Given the description of an element on the screen output the (x, y) to click on. 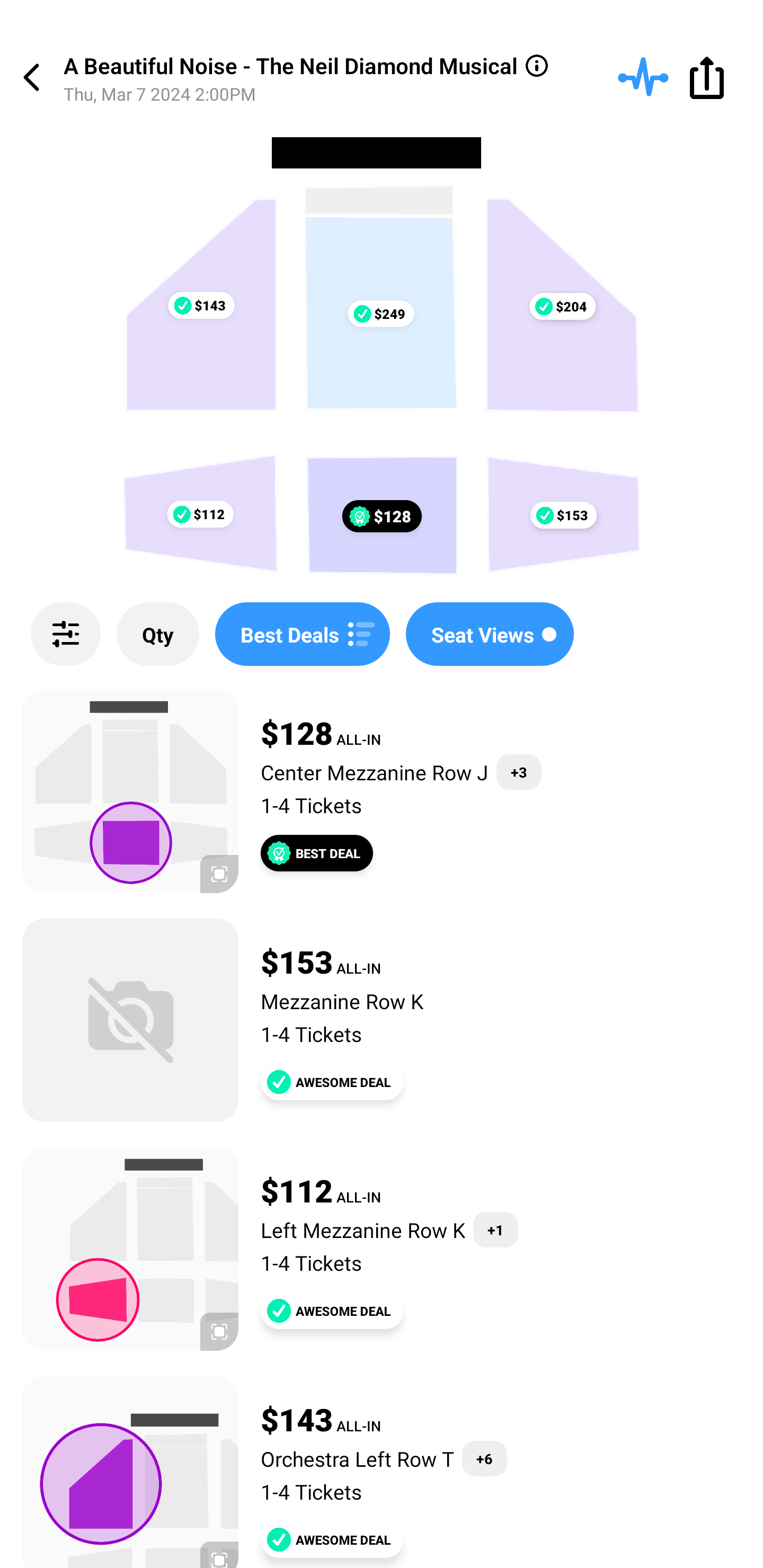
$249 (380, 313)
Qty (157, 634)
Best Deals (302, 634)
Seat Views (489, 634)
+3 (518, 772)
BEST DEAL (316, 852)
AWESOME DEAL (331, 1081)
+1 (495, 1230)
AWESOME DEAL (331, 1310)
+6 (484, 1458)
AWESOME DEAL (331, 1539)
